Given the description of an element on the screen output the (x, y) to click on. 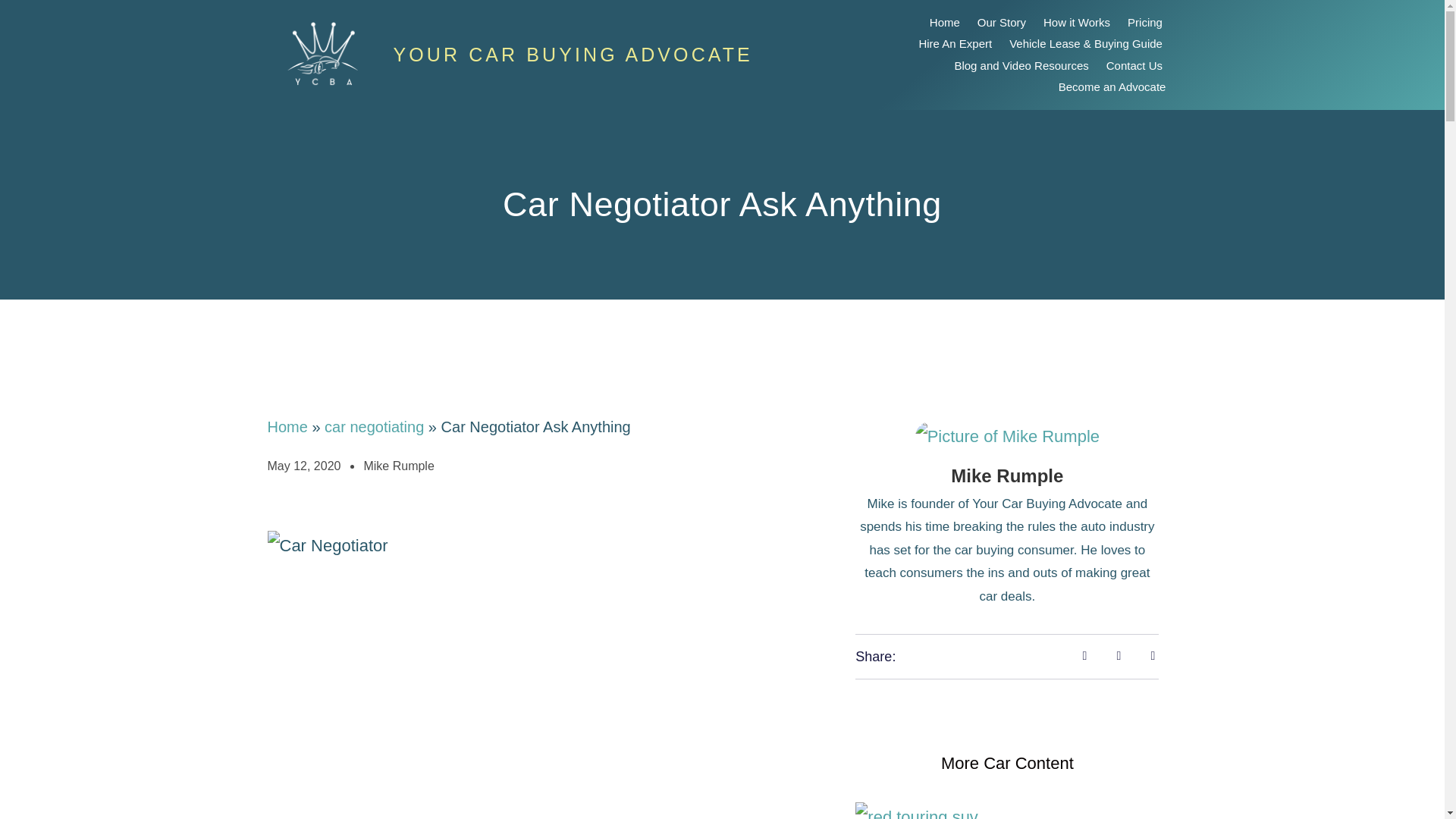
Our Story (1001, 23)
Home (286, 426)
May 12, 2020 (303, 466)
Become an Advocate (1112, 87)
Mike Rumple (397, 466)
How it Works (1076, 23)
YOUR CAR BUYING ADVOCATE (572, 54)
Hire An Expert (954, 44)
Blog and Video Resources (1021, 65)
Contact Us (1133, 65)
